Given the description of an element on the screen output the (x, y) to click on. 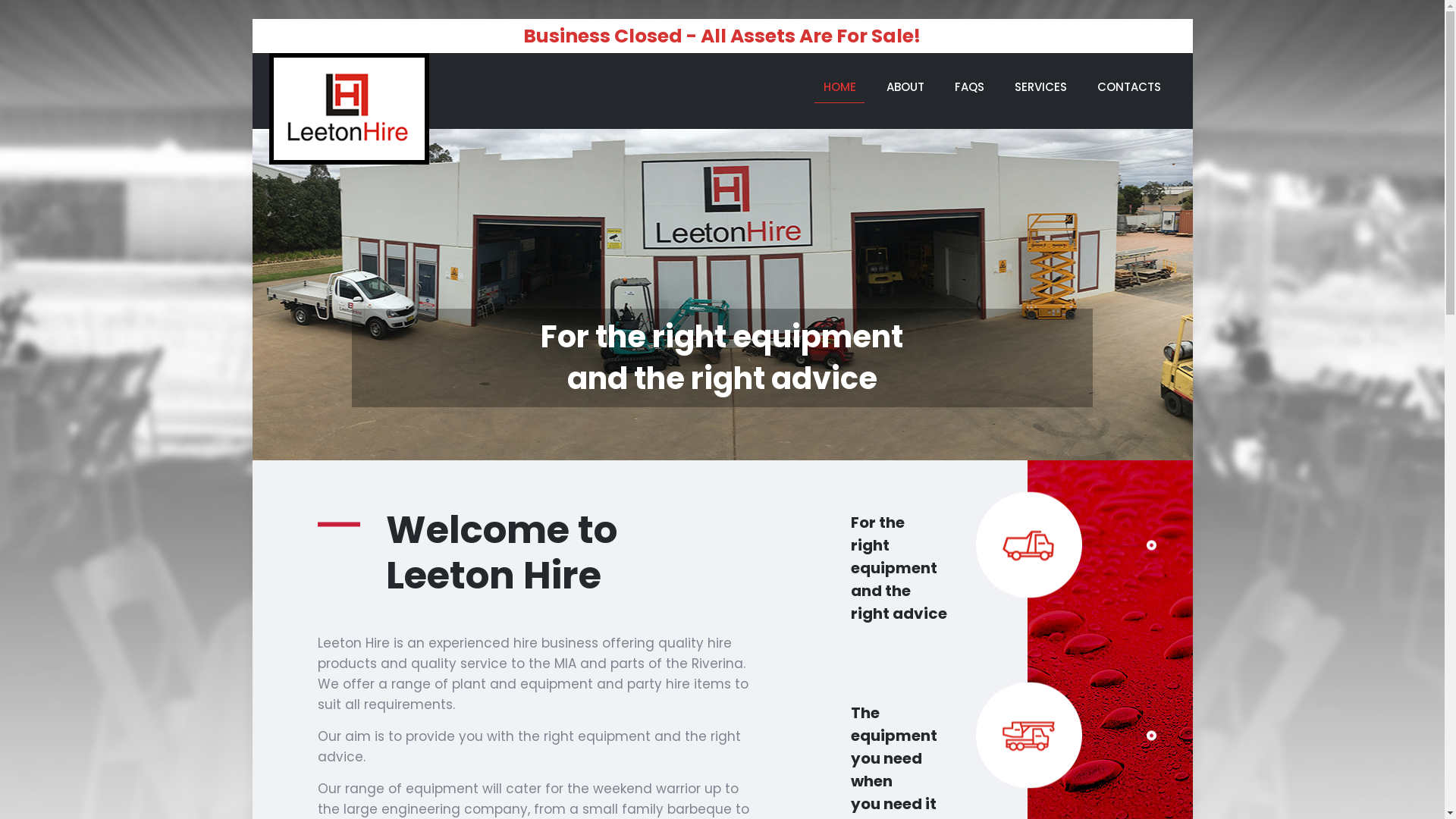
Leetonhire Element type: hover (349, 108)
FAQS Element type: text (969, 87)
ABOUT Element type: text (905, 87)
CONTACTS Element type: text (1129, 87)
SERVICES Element type: text (1040, 87)
HOME Element type: text (839, 87)
